Given the description of an element on the screen output the (x, y) to click on. 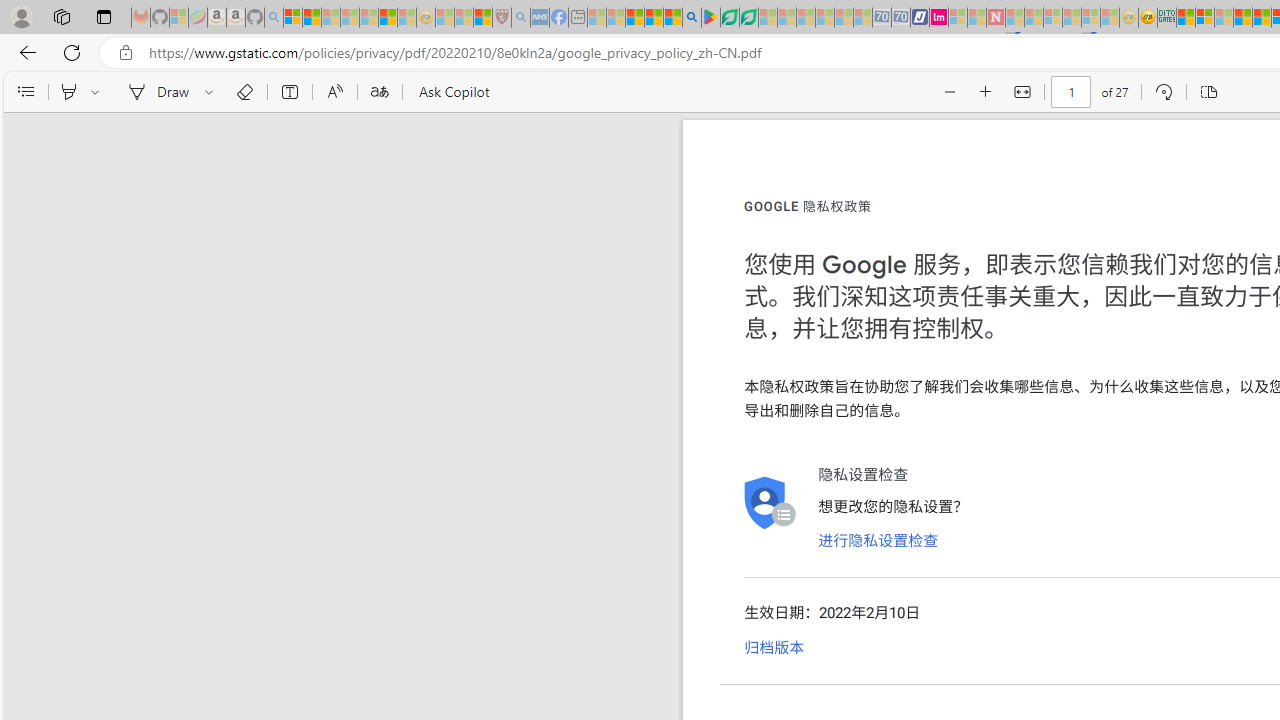
Kinda Frugal - MSN (1262, 17)
Rotate (Ctrl+]) (1163, 92)
Add text (289, 92)
Zoom in (Ctrl+Plus key) (985, 92)
Erase (244, 92)
